Given the description of an element on the screen output the (x, y) to click on. 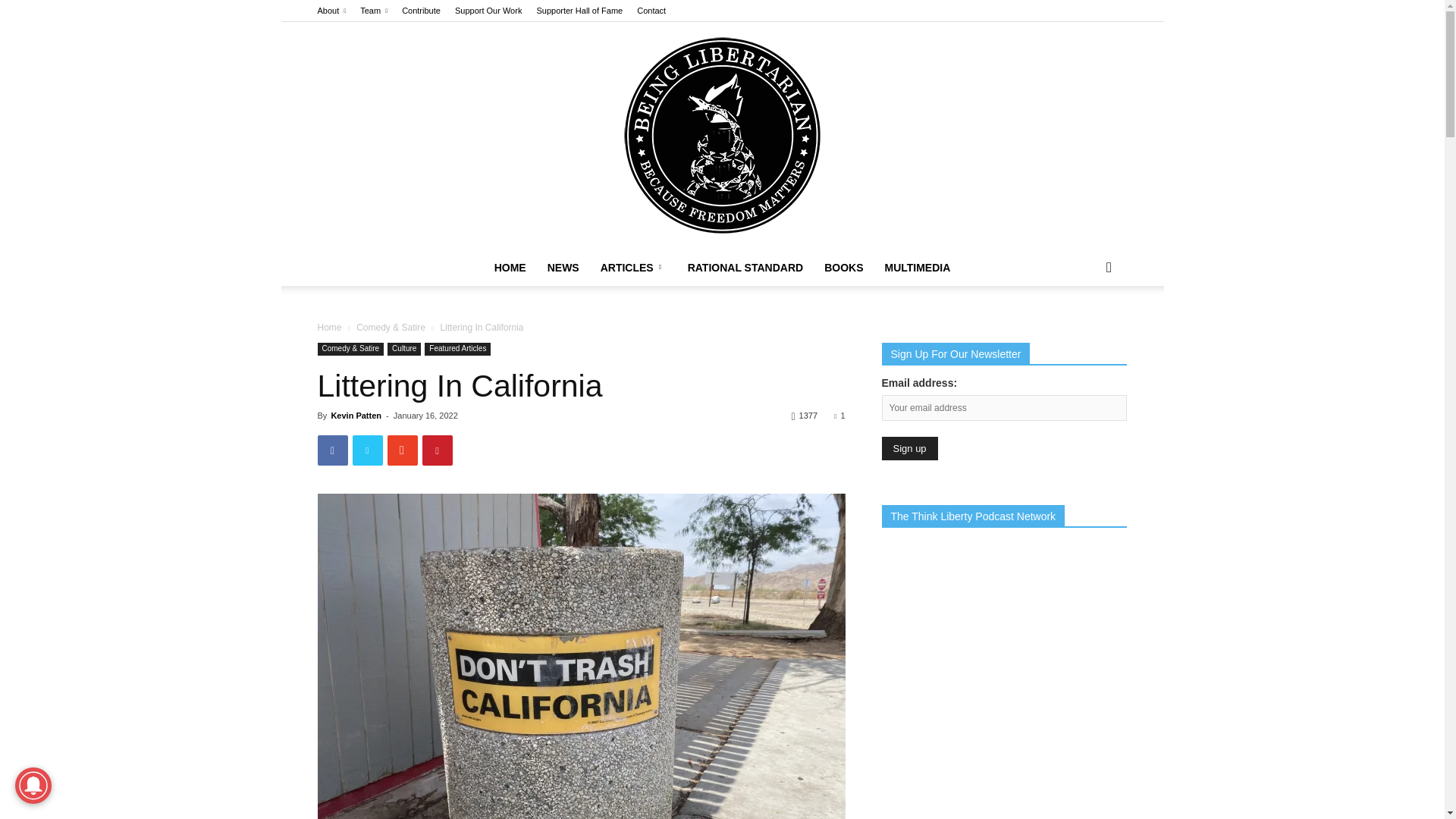
Sign up (908, 448)
HOME (510, 267)
About (331, 10)
Contribute (421, 10)
Support Our Work (487, 10)
Contact (651, 10)
BOOKS (843, 267)
RATIONAL STANDARD (745, 267)
NEWS (563, 267)
Supporter Hall of Fame (579, 10)
Being Libertarian Logo (721, 135)
ARTICLES (633, 267)
Team (373, 10)
